Given the description of an element on the screen output the (x, y) to click on. 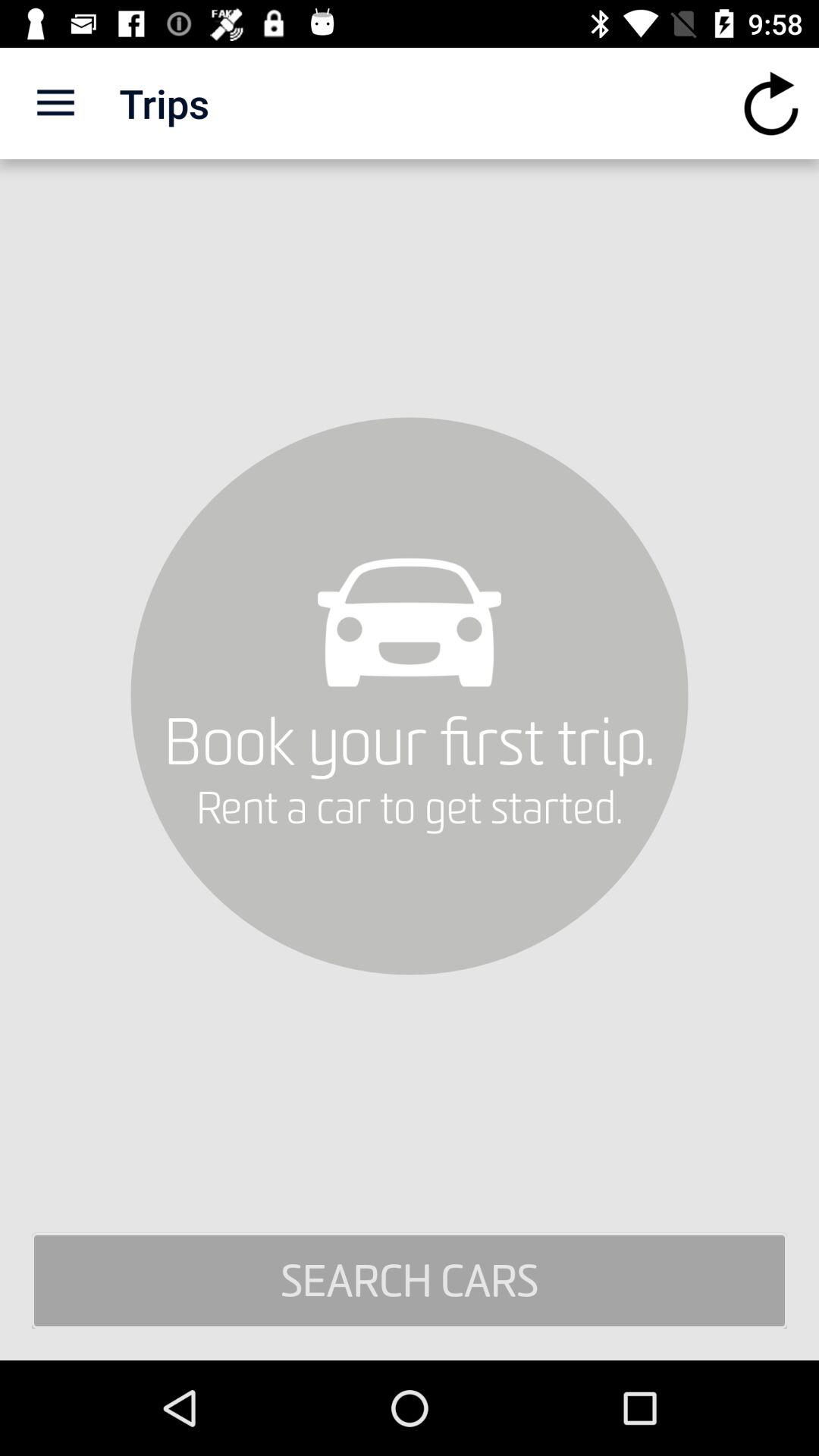
tap item next to the trips app (55, 103)
